Given the description of an element on the screen output the (x, y) to click on. 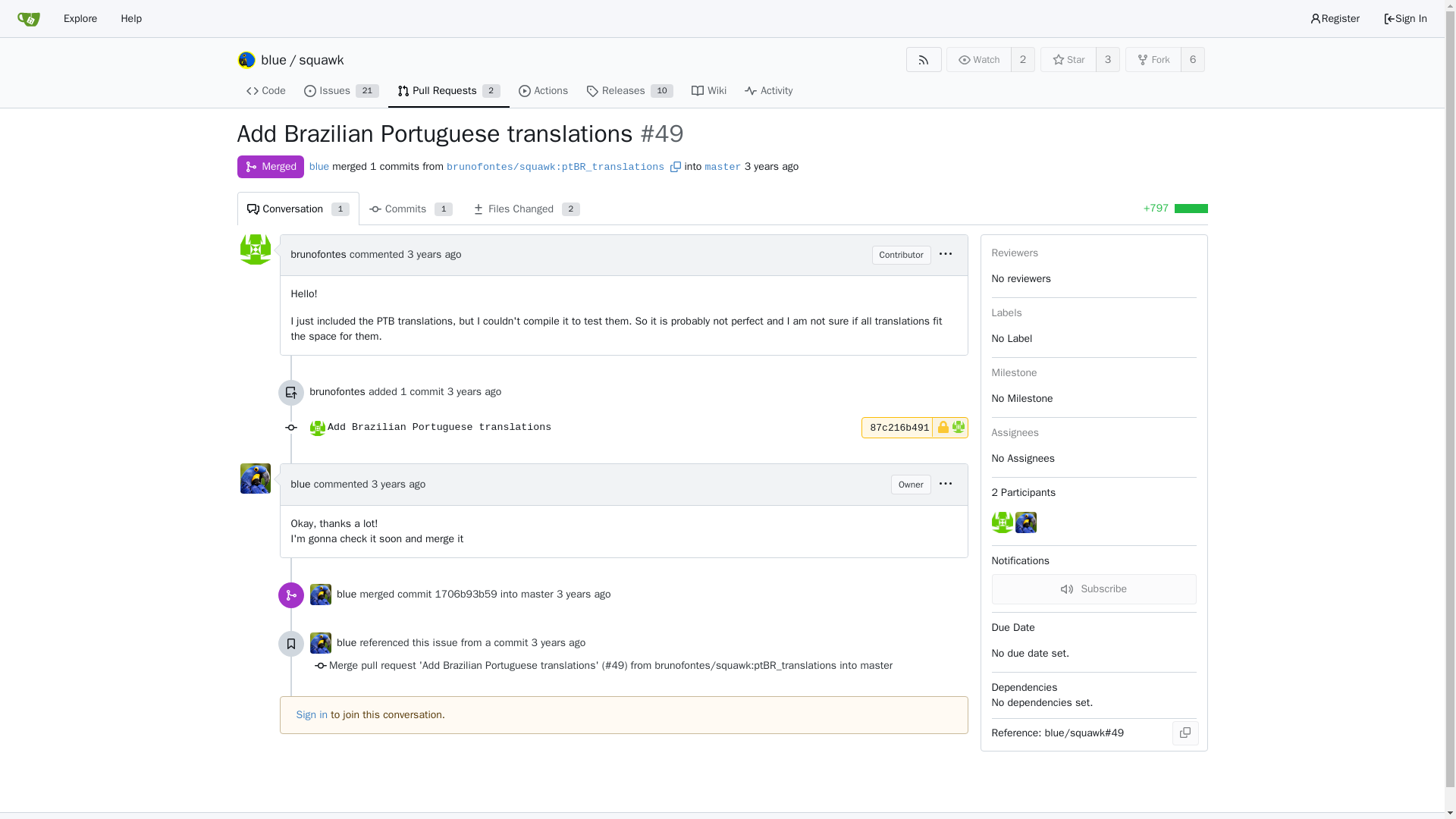
Blue (629, 91)
3 (319, 642)
Fork (1107, 59)
Add Brazilian Portuguese translations (1153, 59)
Register (439, 427)
brunofontes (1335, 17)
Blue (318, 254)
Watch (448, 91)
Wiki (319, 594)
Help (978, 59)
blue (708, 91)
2 (130, 17)
